Given the description of an element on the screen output the (x, y) to click on. 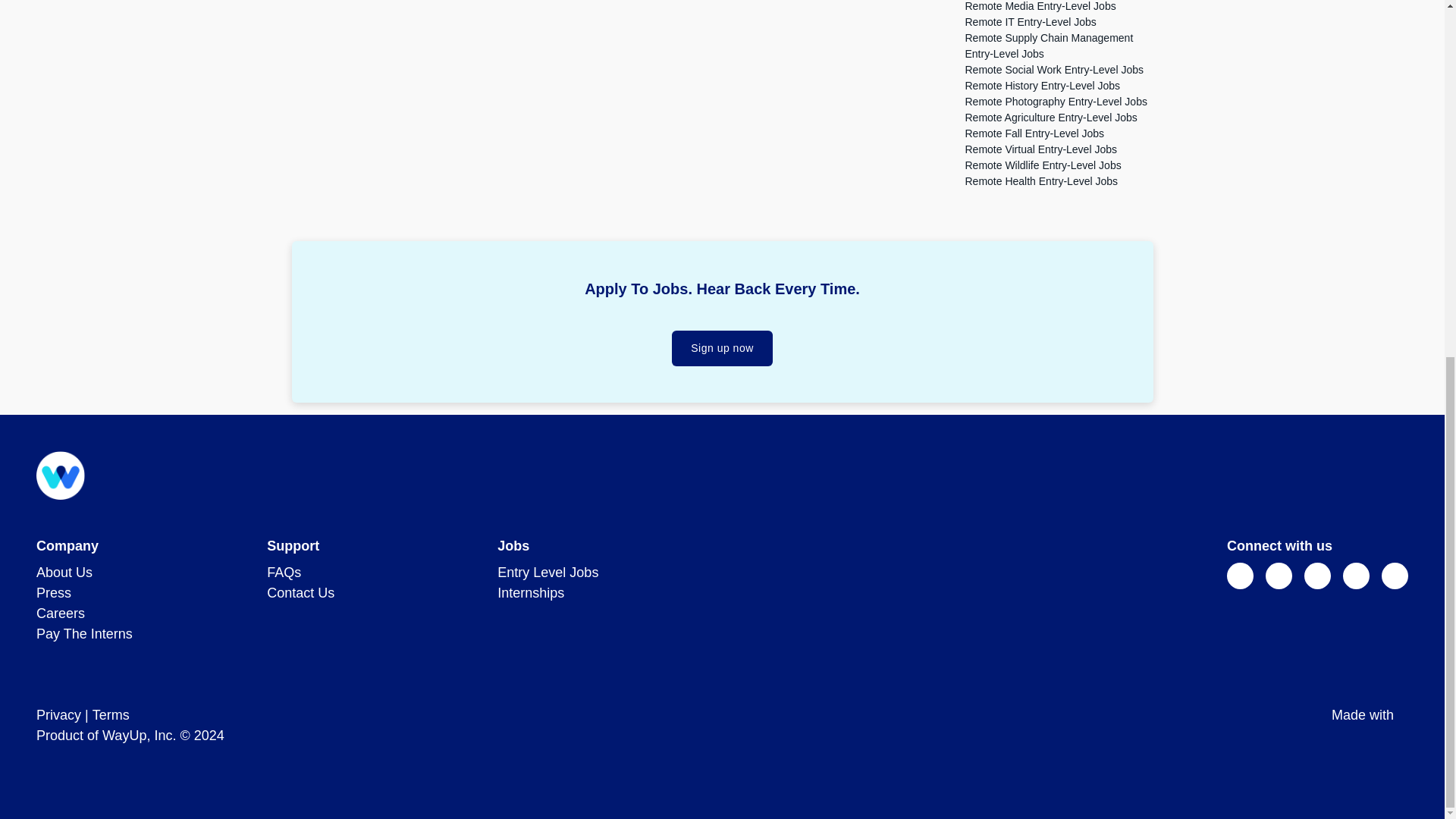
Remote Supply Chain Management Entry-Level Jobs (1047, 45)
Remote Health Entry-Level Jobs (1040, 181)
Entry Level Jobs (547, 572)
Sign up now (722, 348)
Contact Us (300, 593)
Remote Photography Entry-Level Jobs (1055, 101)
Internships (530, 593)
FAQs (283, 572)
Careers (60, 613)
Remote History Entry-Level Jobs (1041, 85)
Remote Virtual Entry-Level Jobs (1039, 149)
Remote Social Work Entry-Level Jobs (1052, 69)
Remote Fall Entry-Level Jobs (1033, 133)
Remote IT Entry-Level Jobs (1029, 21)
Pay The Interns (84, 634)
